Given the description of an element on the screen output the (x, y) to click on. 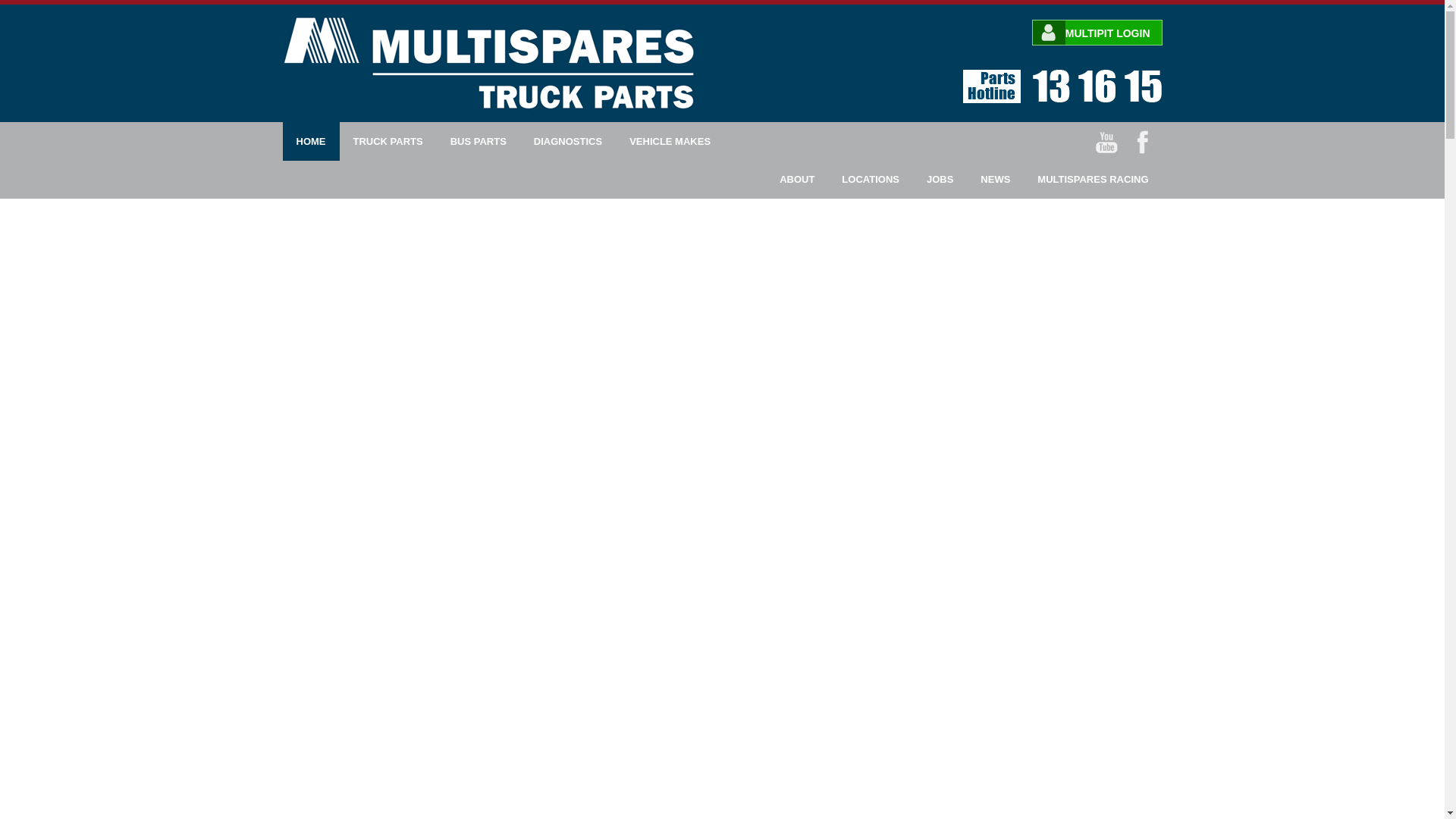
TRUCK PARTS (387, 141)
VEHICLE MAKES (669, 141)
BUS PARTS (477, 141)
DIAGNOSTICS (567, 141)
HOME (310, 141)
MULTIPIT LOGIN (1095, 32)
